Given the description of an element on the screen output the (x, y) to click on. 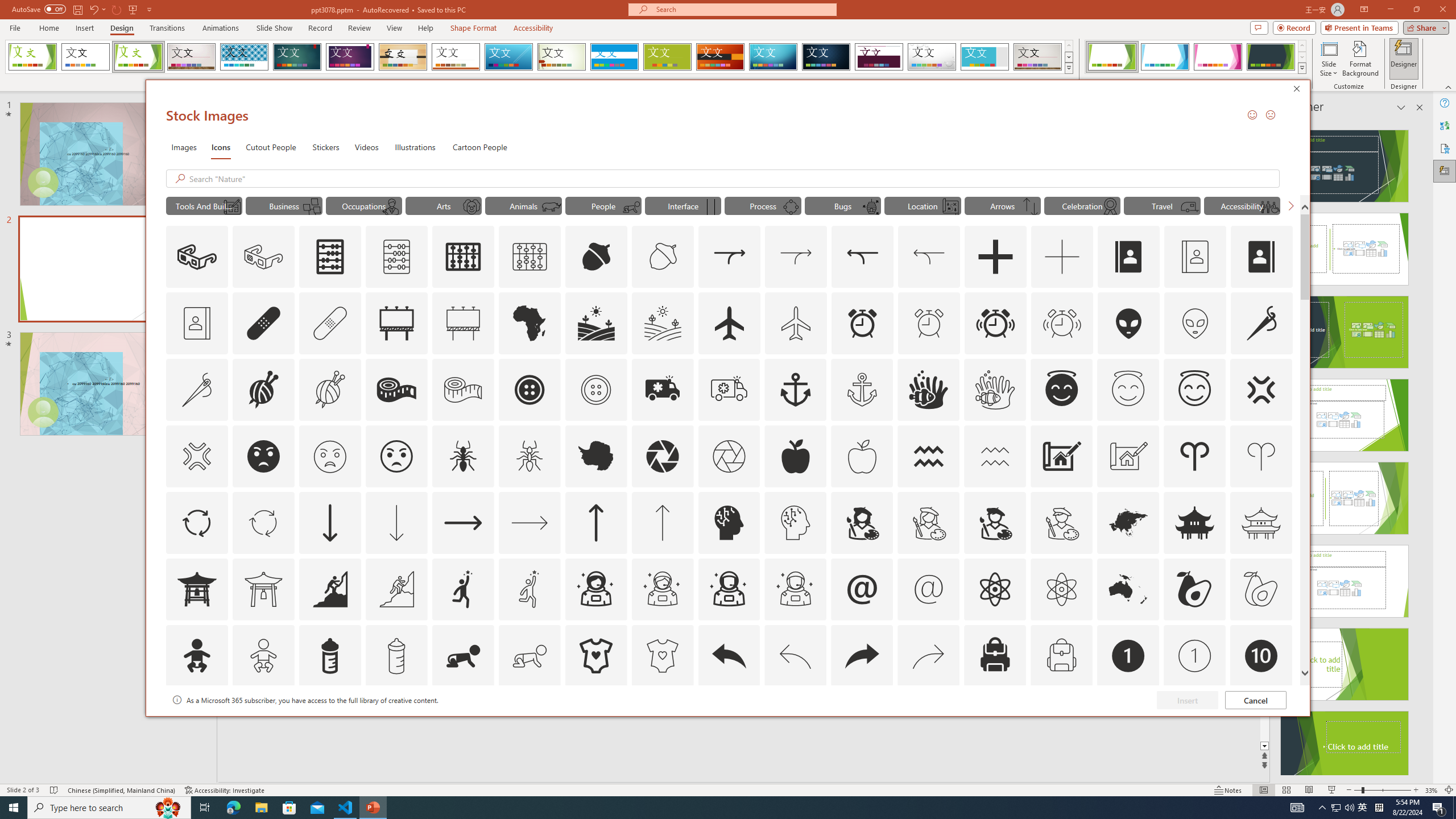
AutomationID: Icons_ArtificialIntelligence (729, 522)
